Given the description of an element on the screen output the (x, y) to click on. 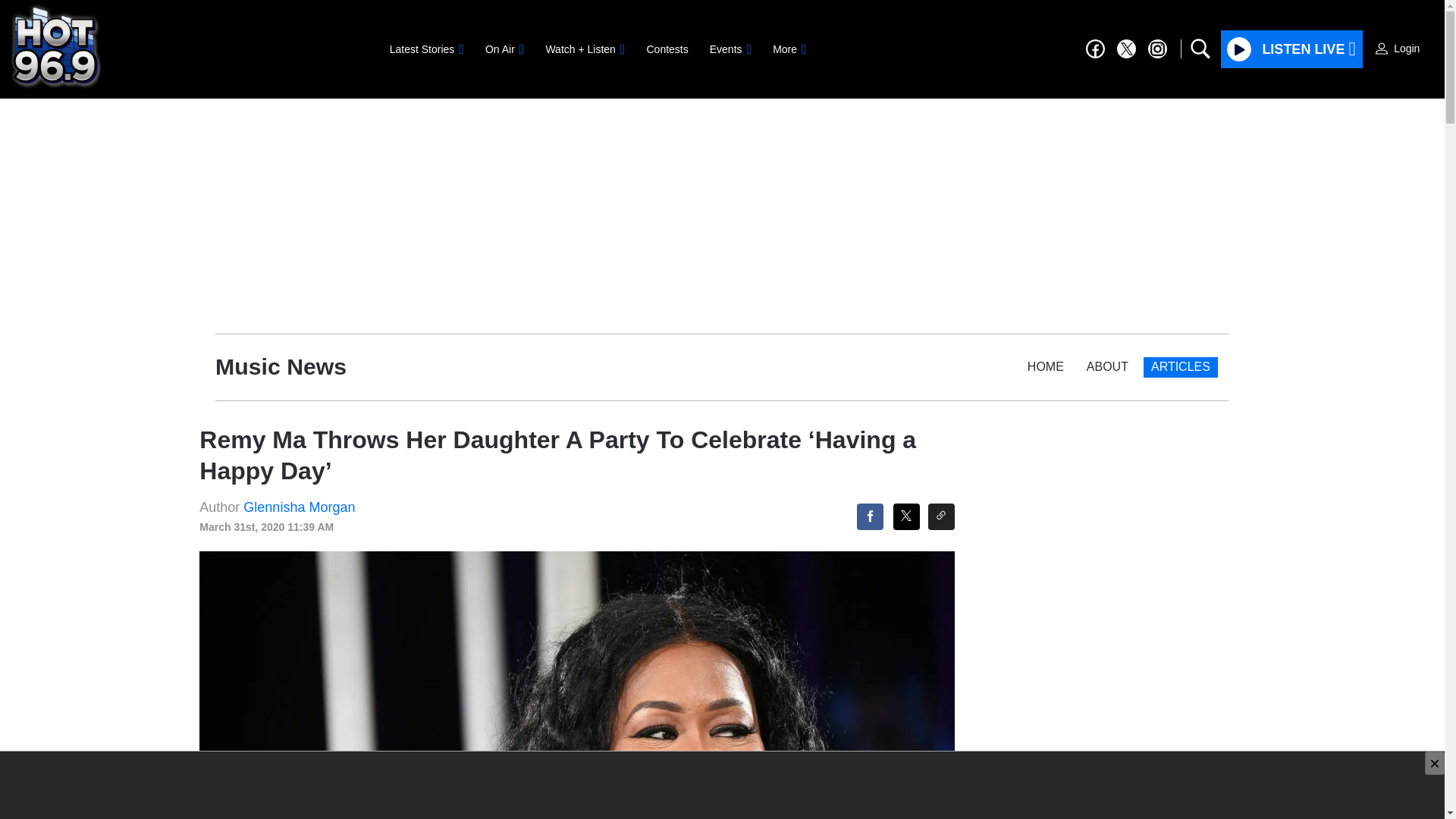
Events (729, 49)
Close AdCheckmark indicating ad close (1434, 763)
Latest Stories (426, 49)
On Air (504, 49)
Glennisha Morgan (299, 507)
Contests (666, 49)
